Given the description of an element on the screen output the (x, y) to click on. 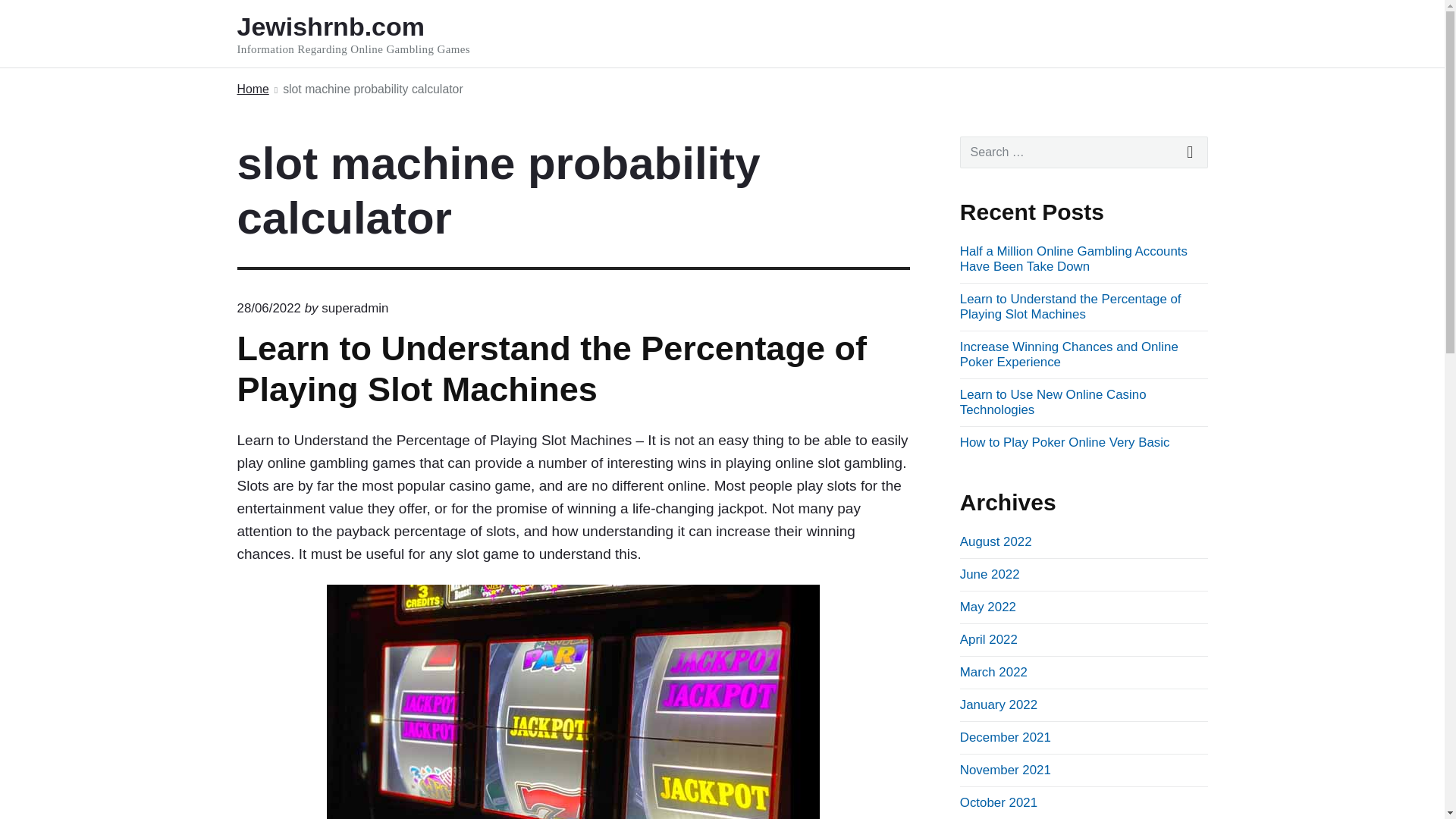
November 2021 (1005, 769)
Learn to Use New Online Casino Technologies (1053, 401)
Increase Winning Chances and Online Poker Experience (1068, 354)
April 2022 (988, 639)
August 2022 (995, 541)
December 2021 (1005, 737)
Learn to Understand the Percentage of Playing Slot Machines (550, 368)
January 2022 (997, 704)
March 2022 (993, 672)
Home (251, 89)
